Given the description of an element on the screen output the (x, y) to click on. 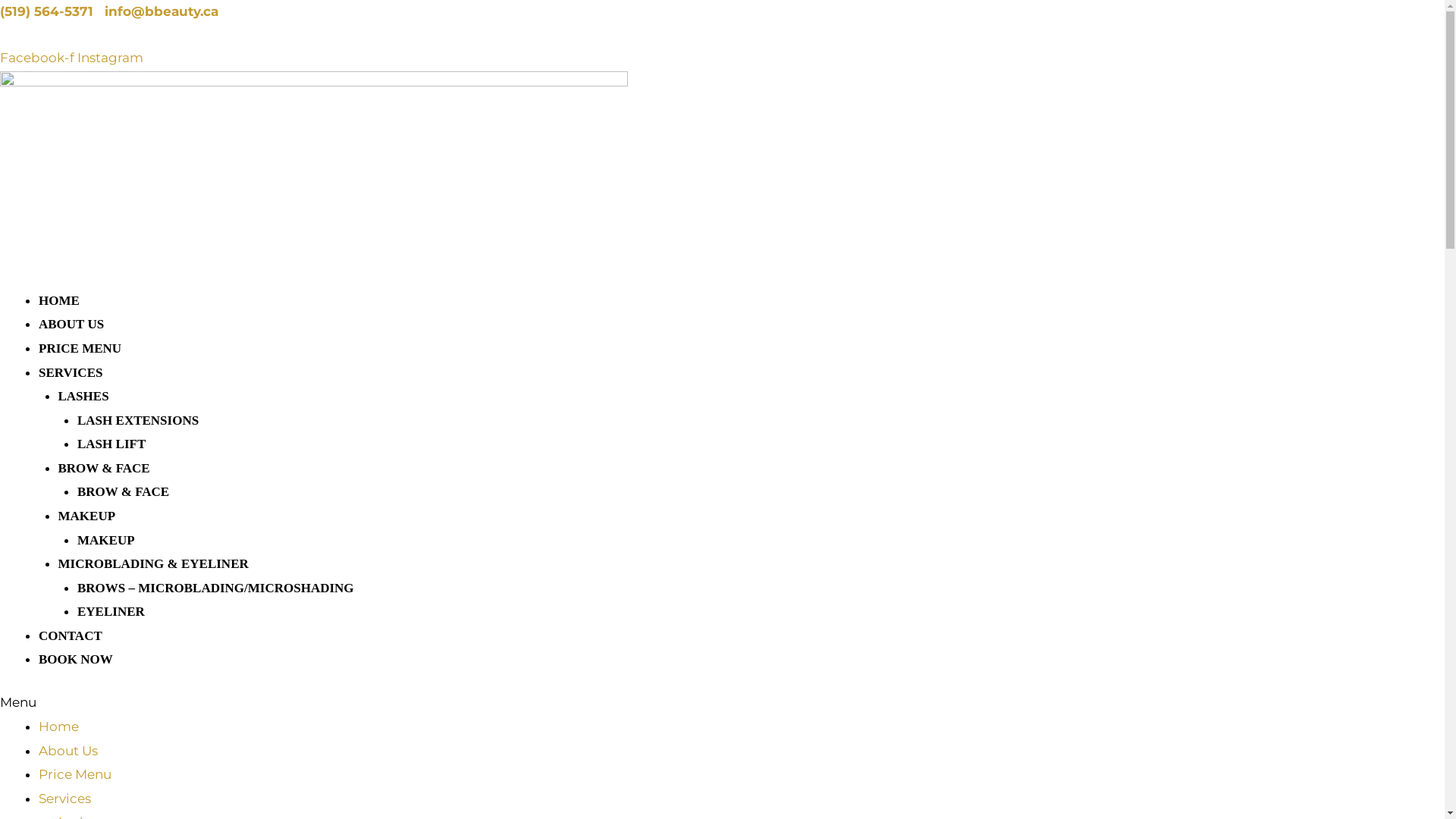
CONTACT Element type: text (70, 635)
ABOUT US Element type: text (70, 323)
info@bbeauty.ca Element type: text (161, 10)
LASH LIFT Element type: text (111, 443)
MICROBLADING & EYELINER Element type: text (152, 563)
Price Menu Element type: text (74, 773)
MAKEUP Element type: text (86, 515)
LASH EXTENSIONS Element type: text (137, 420)
BROW & FACE Element type: text (123, 491)
EYELINER Element type: text (110, 611)
BROW & FACE Element type: text (103, 468)
LASHES Element type: text (82, 396)
BOOK NOW Element type: text (75, 659)
Services Element type: text (64, 798)
HOME Element type: text (58, 300)
MAKEUP Element type: text (105, 539)
PRICE MENU Element type: text (79, 348)
Instagram Element type: text (110, 57)
Home Element type: text (58, 726)
SERVICES Element type: text (70, 372)
Facebook-f Element type: text (38, 57)
About Us Element type: text (67, 750)
